Given the description of an element on the screen output the (x, y) to click on. 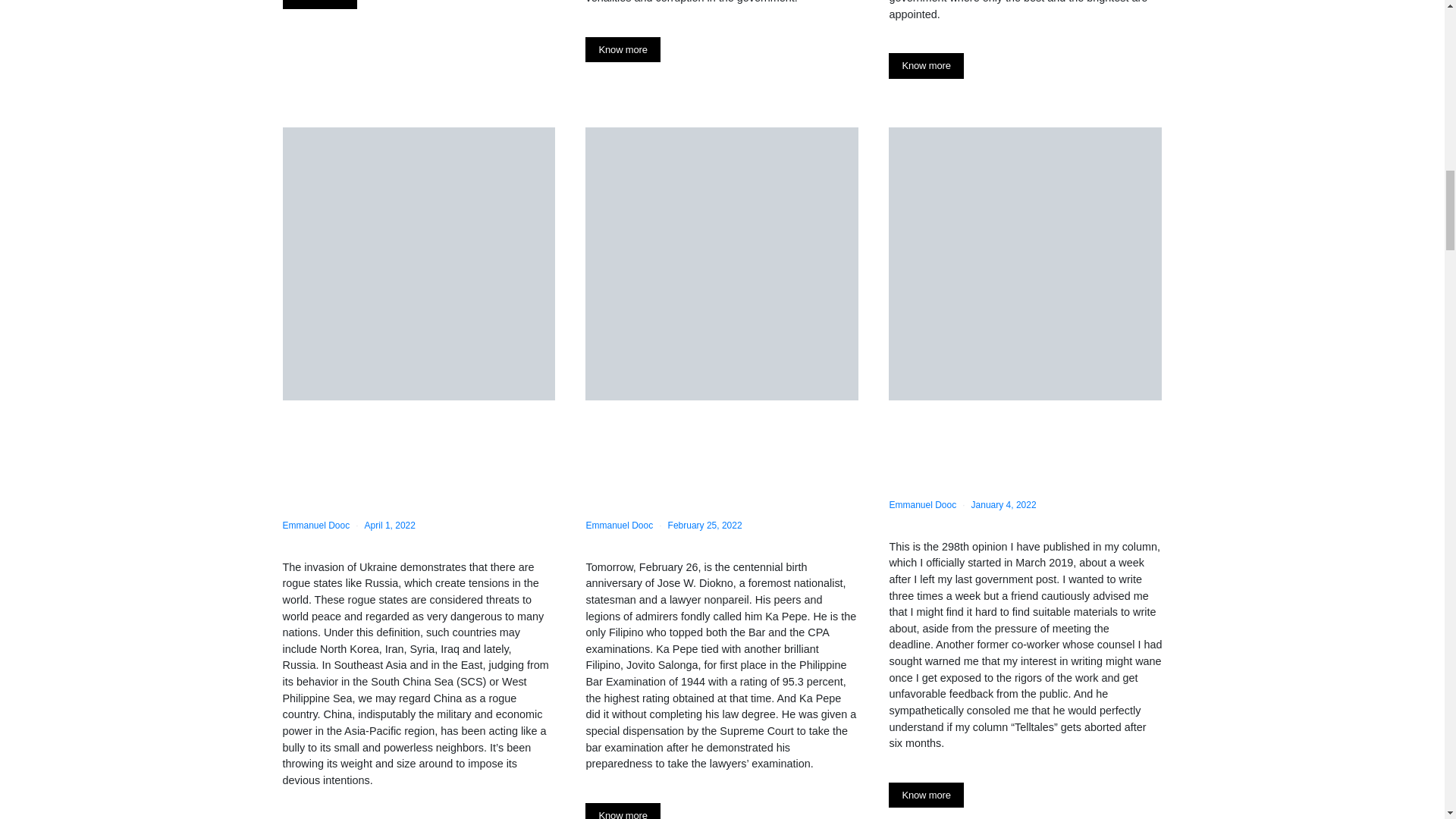
View all posts by Emmanuel Dooc (315, 525)
View all posts by Emmanuel Dooc (922, 504)
View all posts by Emmanuel Dooc (618, 525)
